Given the description of an element on the screen output the (x, y) to click on. 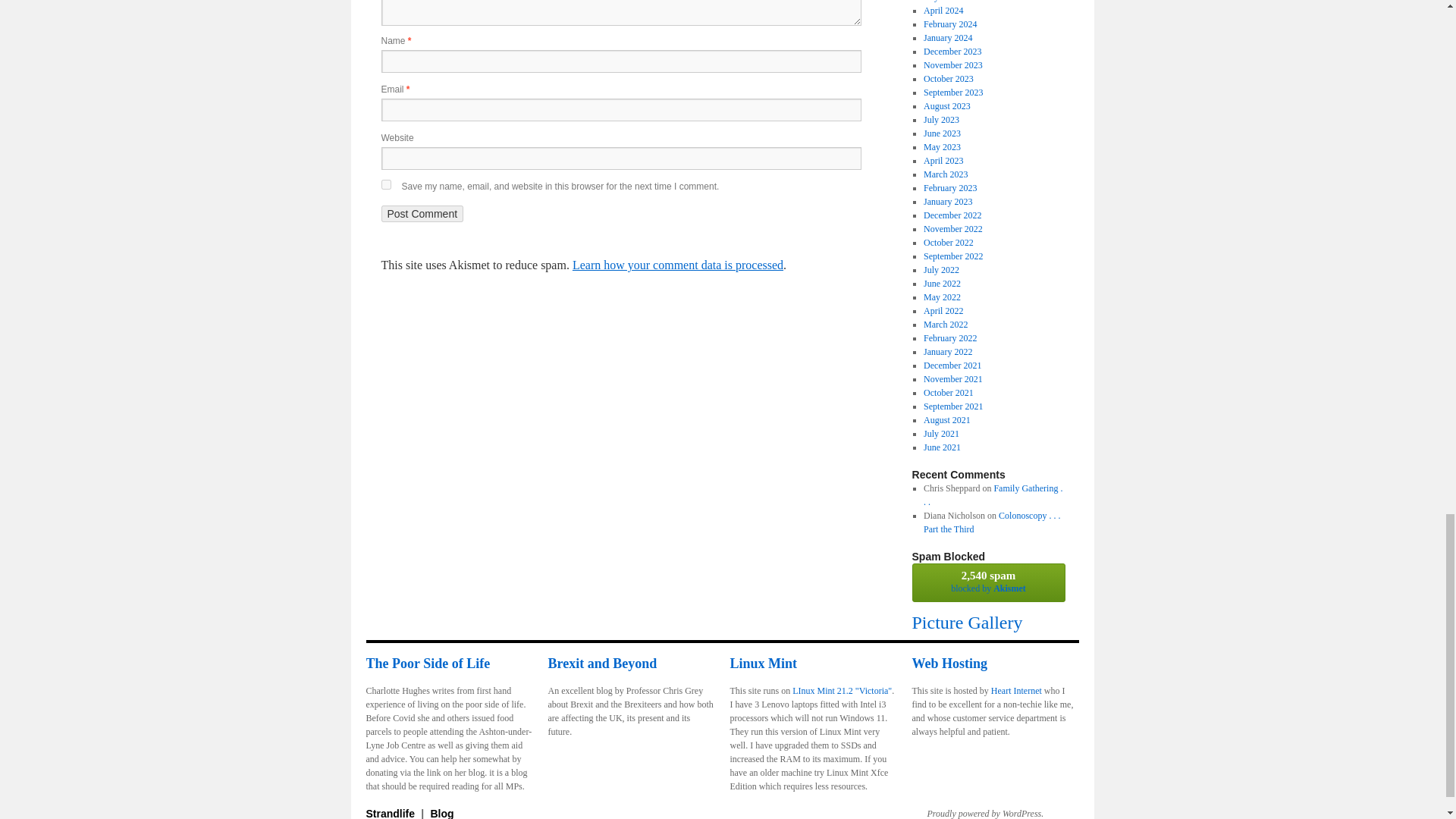
Learn how your comment data is processed (677, 264)
Post Comment (421, 213)
yes (385, 184)
Post Comment (421, 213)
